Given the description of an element on the screen output the (x, y) to click on. 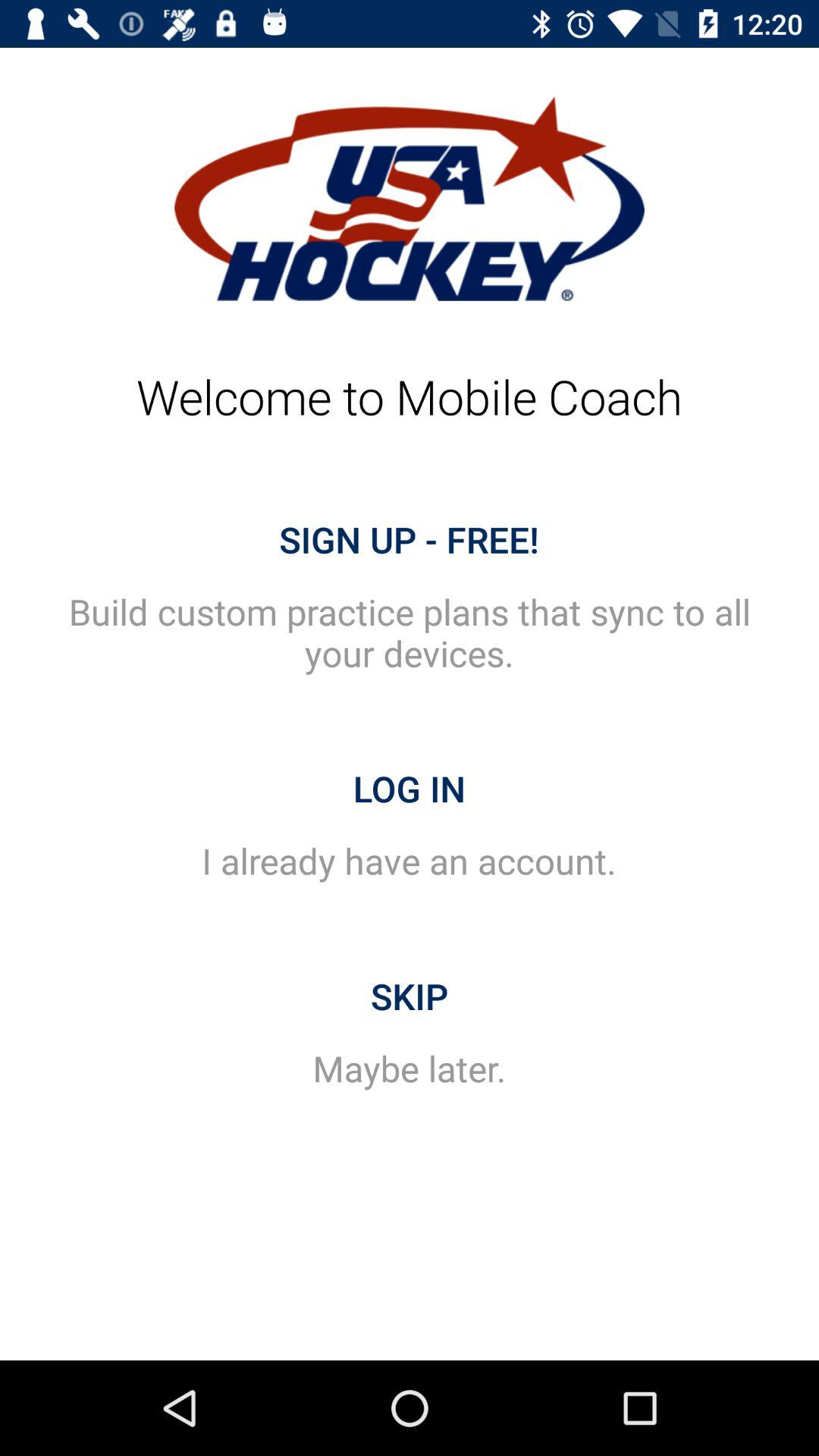
launch the item above maybe later. item (409, 996)
